Given the description of an element on the screen output the (x, y) to click on. 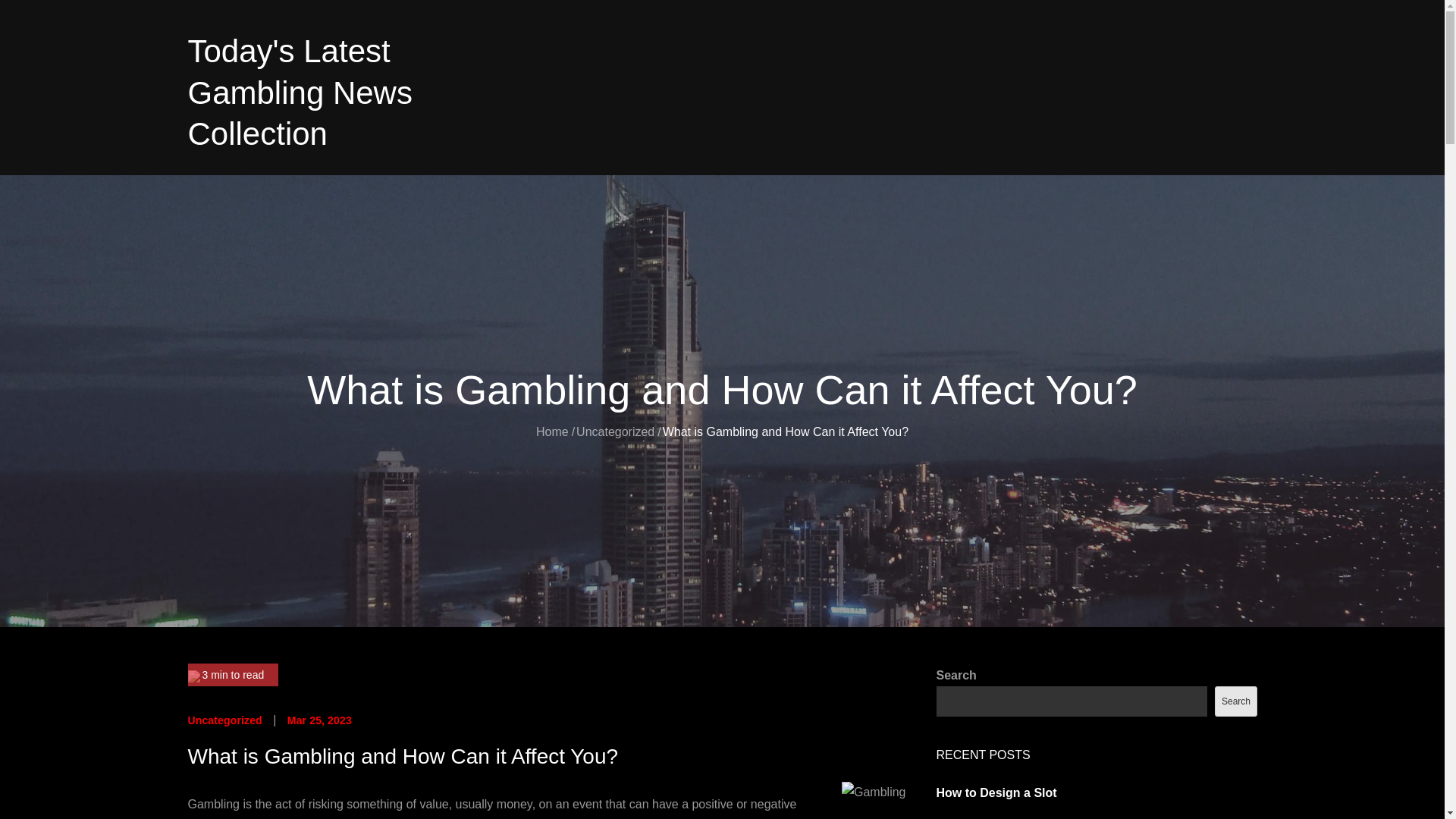
Search (1235, 701)
Mar 25, 2023 (319, 720)
Uncategorized (614, 431)
Today's Latest Gambling News Collection (299, 92)
How to Design a Slot (996, 792)
Home (552, 431)
Uncategorized (224, 720)
